Given the description of an element on the screen output the (x, y) to click on. 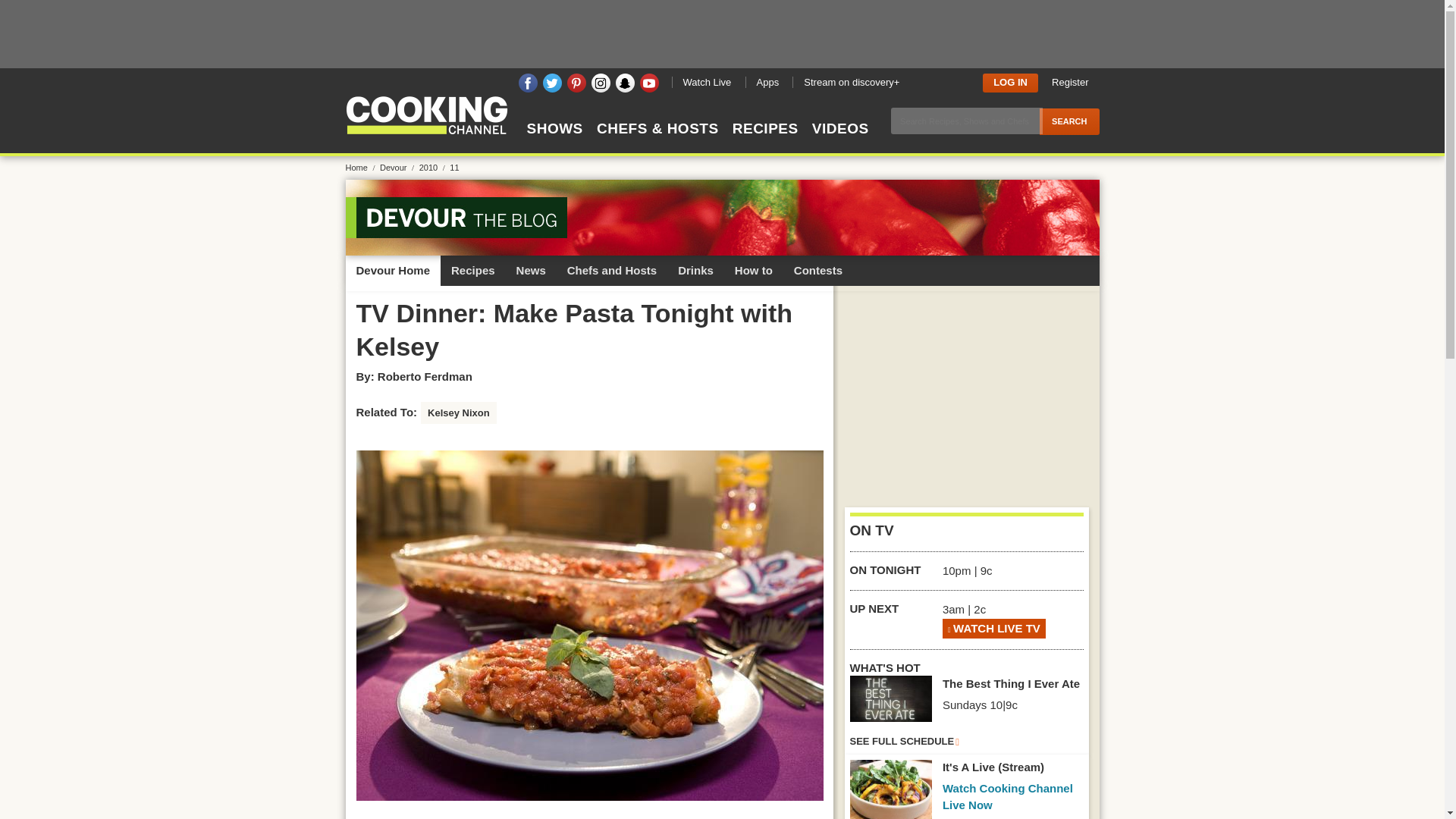
Devour Home (393, 269)
LOG IN (1010, 81)
Chefs and Hosts (611, 269)
How to (753, 269)
Contests (818, 269)
Register (1070, 81)
Follow us on Twitter (552, 82)
Home (361, 166)
Follow us on Snapchat (624, 82)
Follow us on Instagram (600, 82)
SHOWS (554, 141)
Devour (398, 166)
RECIPES (764, 141)
Follow us on YouTube (649, 82)
11 (453, 166)
